Given the description of an element on the screen output the (x, y) to click on. 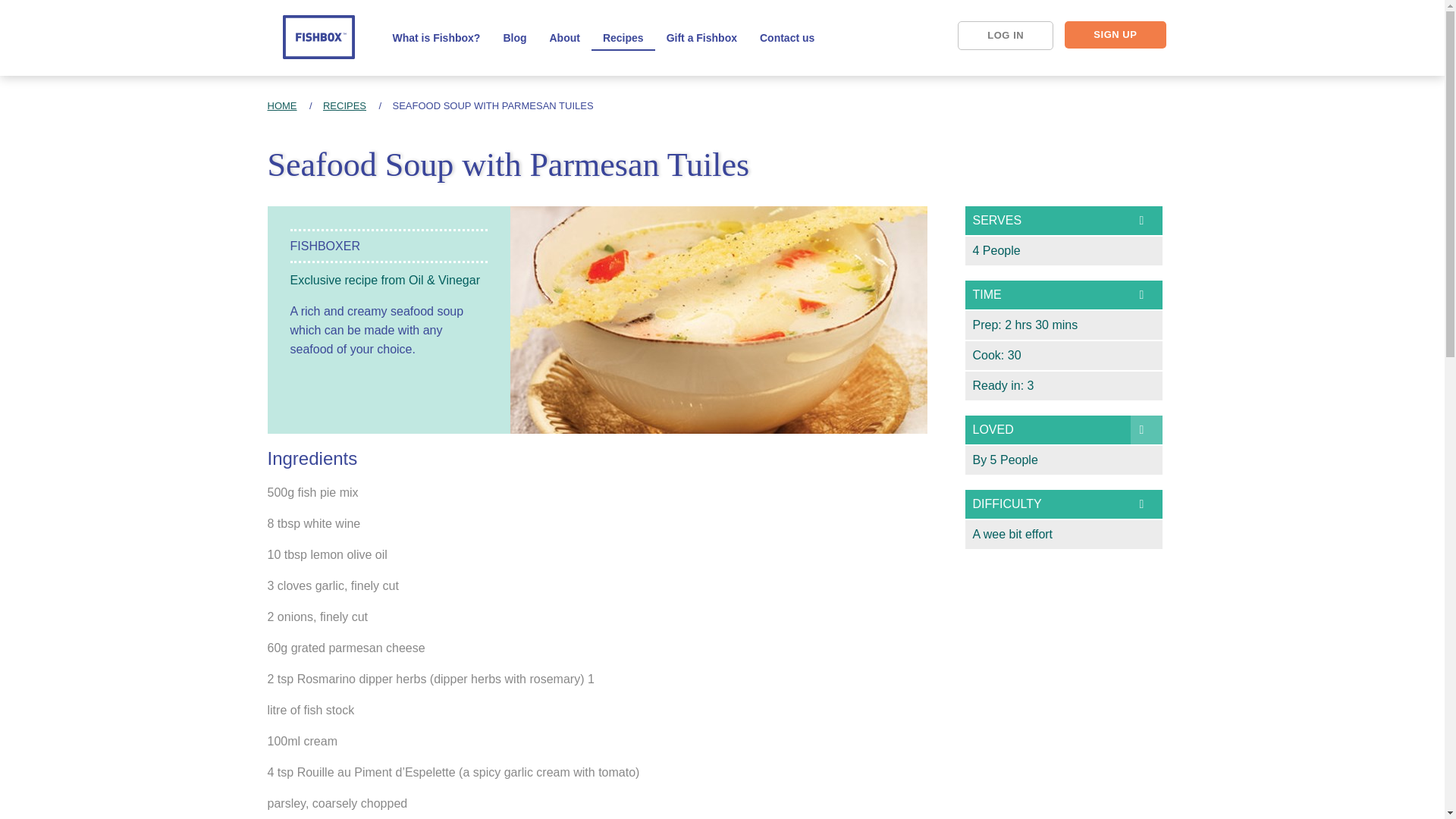
Blog (514, 37)
Gift a Fishbox (701, 37)
HOME (281, 105)
LOG IN (1005, 35)
Contact us (786, 37)
SIGN UP (1115, 34)
RECIPES (344, 105)
About (564, 37)
What is Fishbox? (436, 37)
Recipes (623, 37)
